Given the description of an element on the screen output the (x, y) to click on. 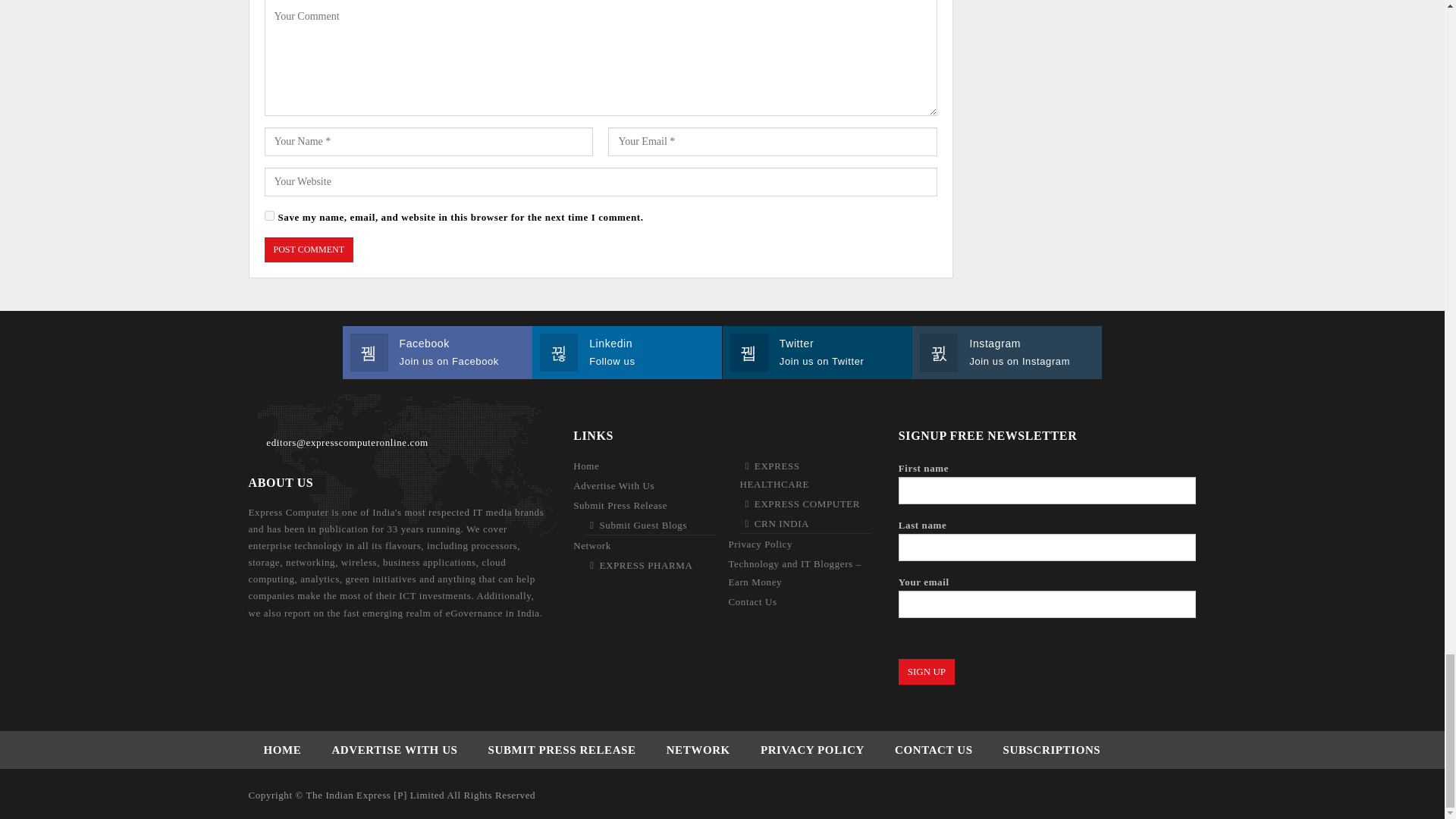
yes (268, 215)
Post Comment (307, 249)
Sign Up (926, 671)
